Given the description of an element on the screen output the (x, y) to click on. 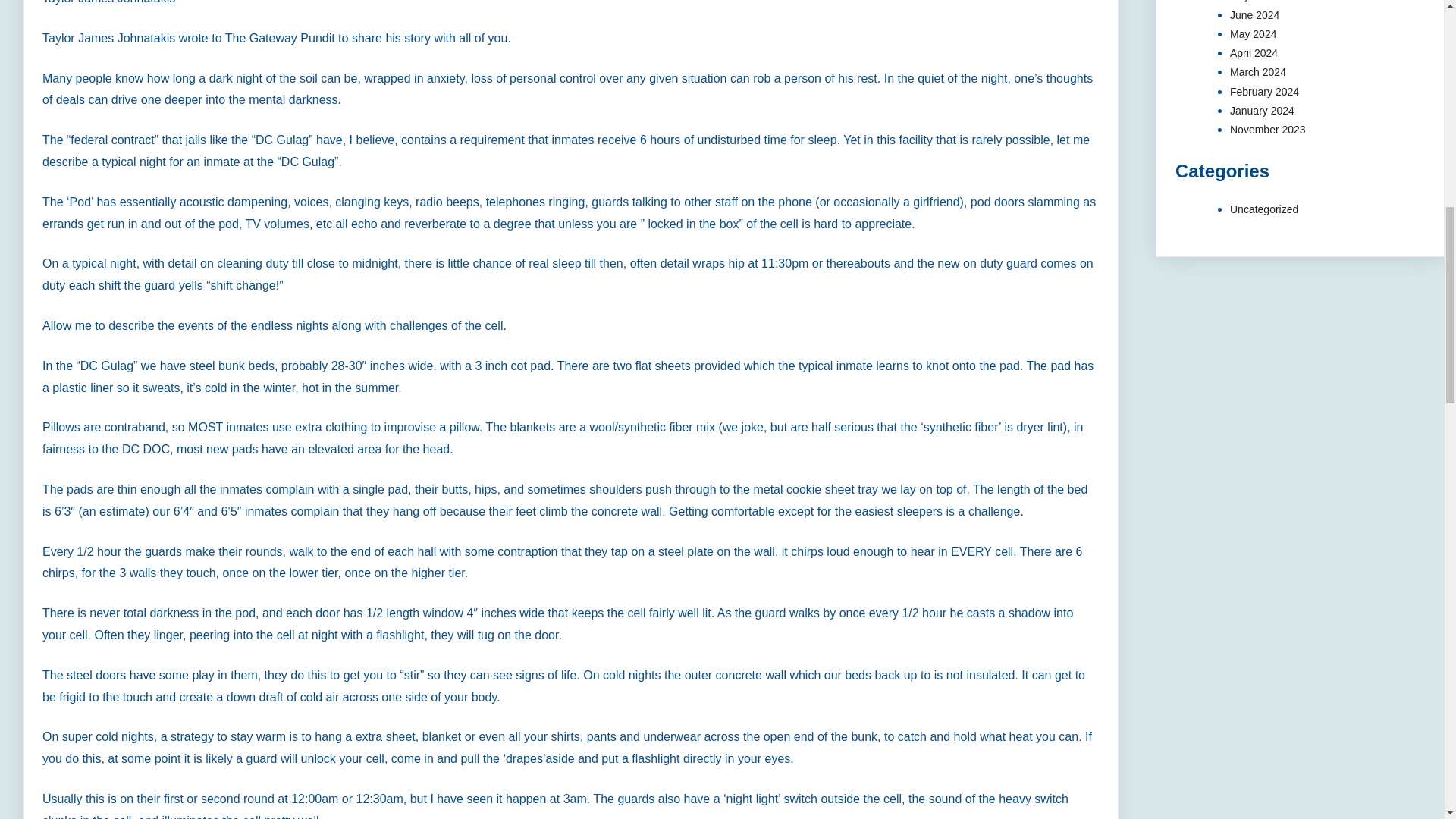
Uncategorized (1264, 209)
March 2024 (1257, 71)
February 2024 (1264, 91)
January 2024 (1262, 110)
May 2024 (1253, 33)
November 2023 (1268, 129)
July 2024 (1252, 1)
April 2024 (1254, 52)
June 2024 (1254, 15)
